Given the description of an element on the screen output the (x, y) to click on. 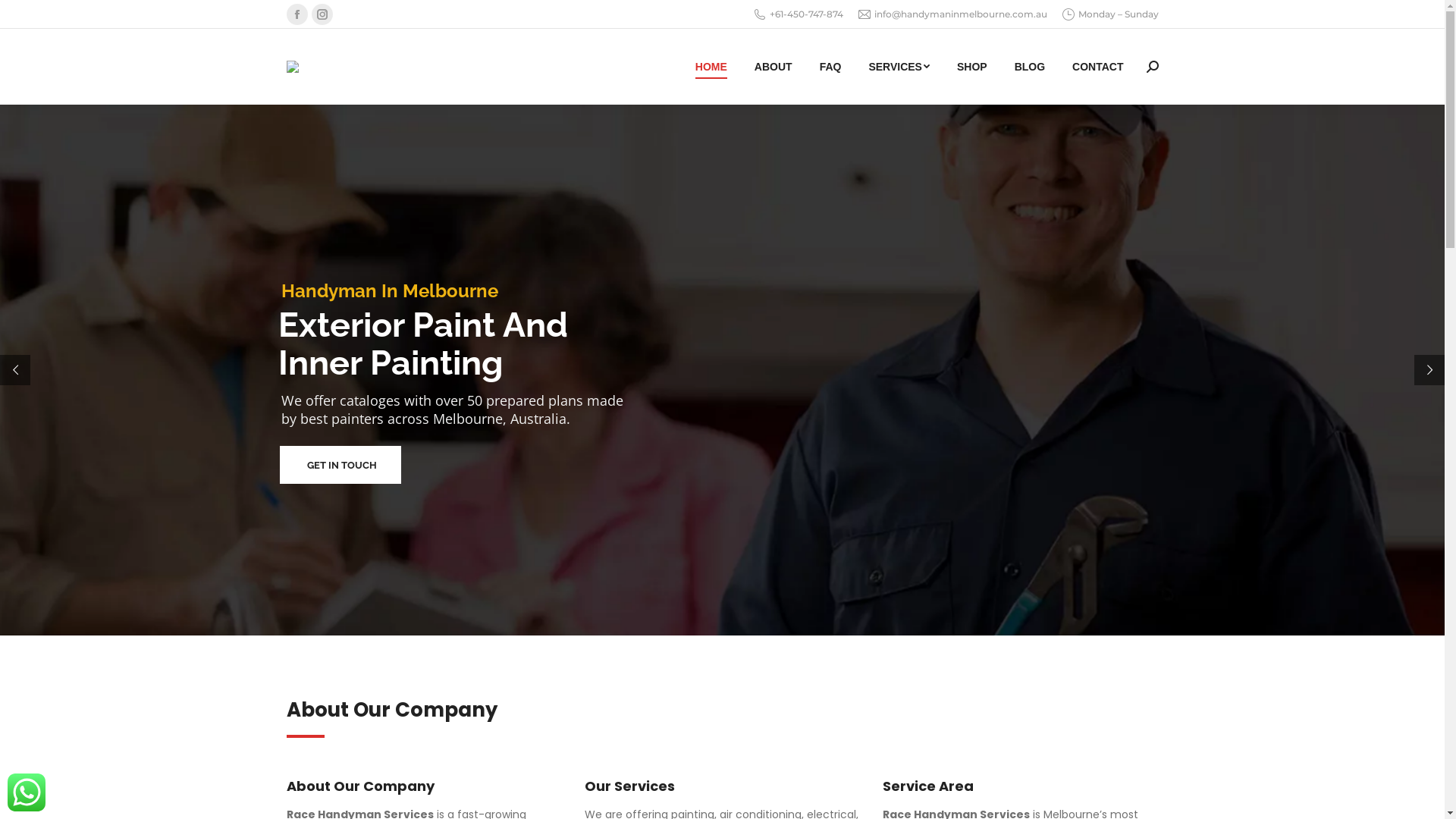
Go! Element type: text (24, 16)
Facebook page opens in new window Element type: text (296, 14)
SHOP Element type: text (972, 66)
+61-450-747-874 Element type: text (798, 14)
CONTACT Element type: text (1097, 66)
info@handymaninmelbourne.com.au Element type: text (952, 14)
HOME Element type: text (711, 66)
ABOUT Element type: text (773, 66)
SERVICES Element type: text (898, 66)
Instagram page opens in new window Element type: text (321, 14)
GET IN TOUCH Element type: text (339, 464)
FAQ Element type: text (830, 66)
BLOG Element type: text (1029, 66)
